Given the description of an element on the screen output the (x, y) to click on. 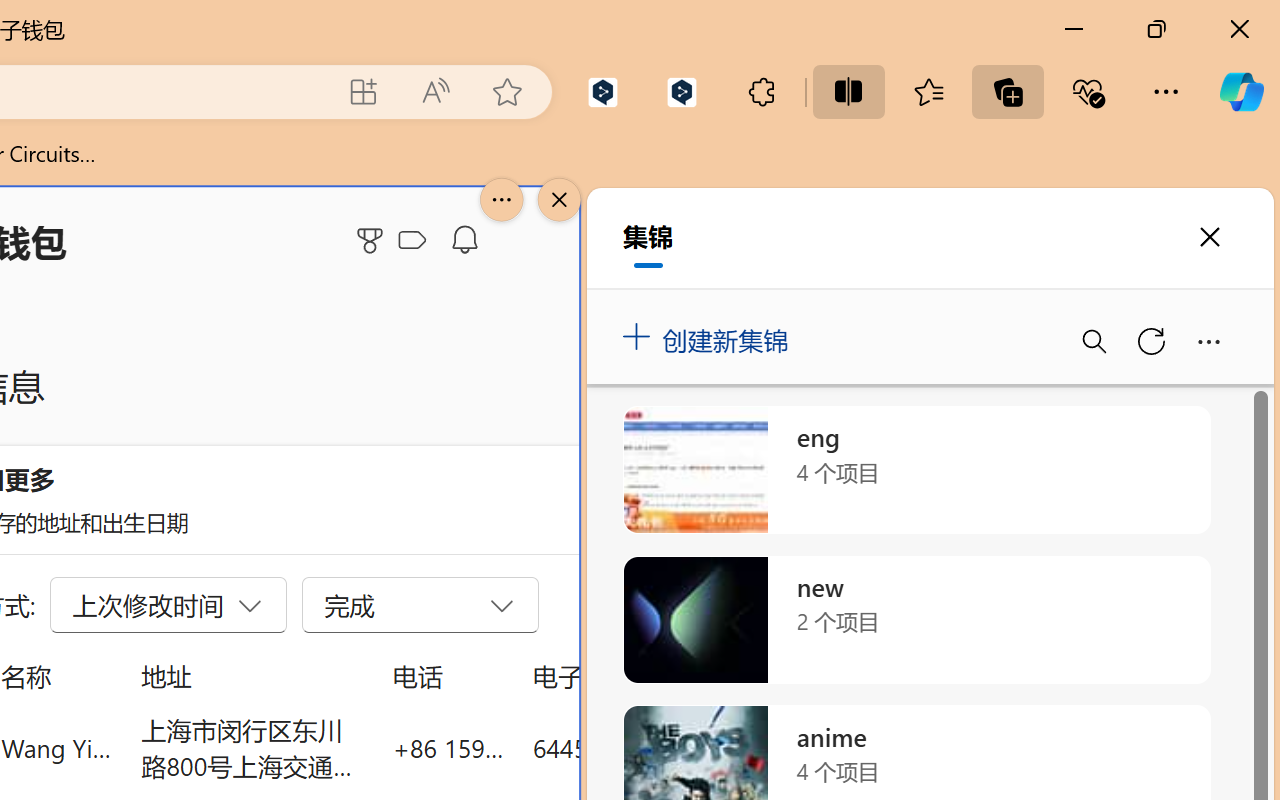
Microsoft Rewards (373, 240)
+86 159 0032 4640 (447, 747)
Copilot (Ctrl+Shift+.) (1241, 91)
